Given the description of an element on the screen output the (x, y) to click on. 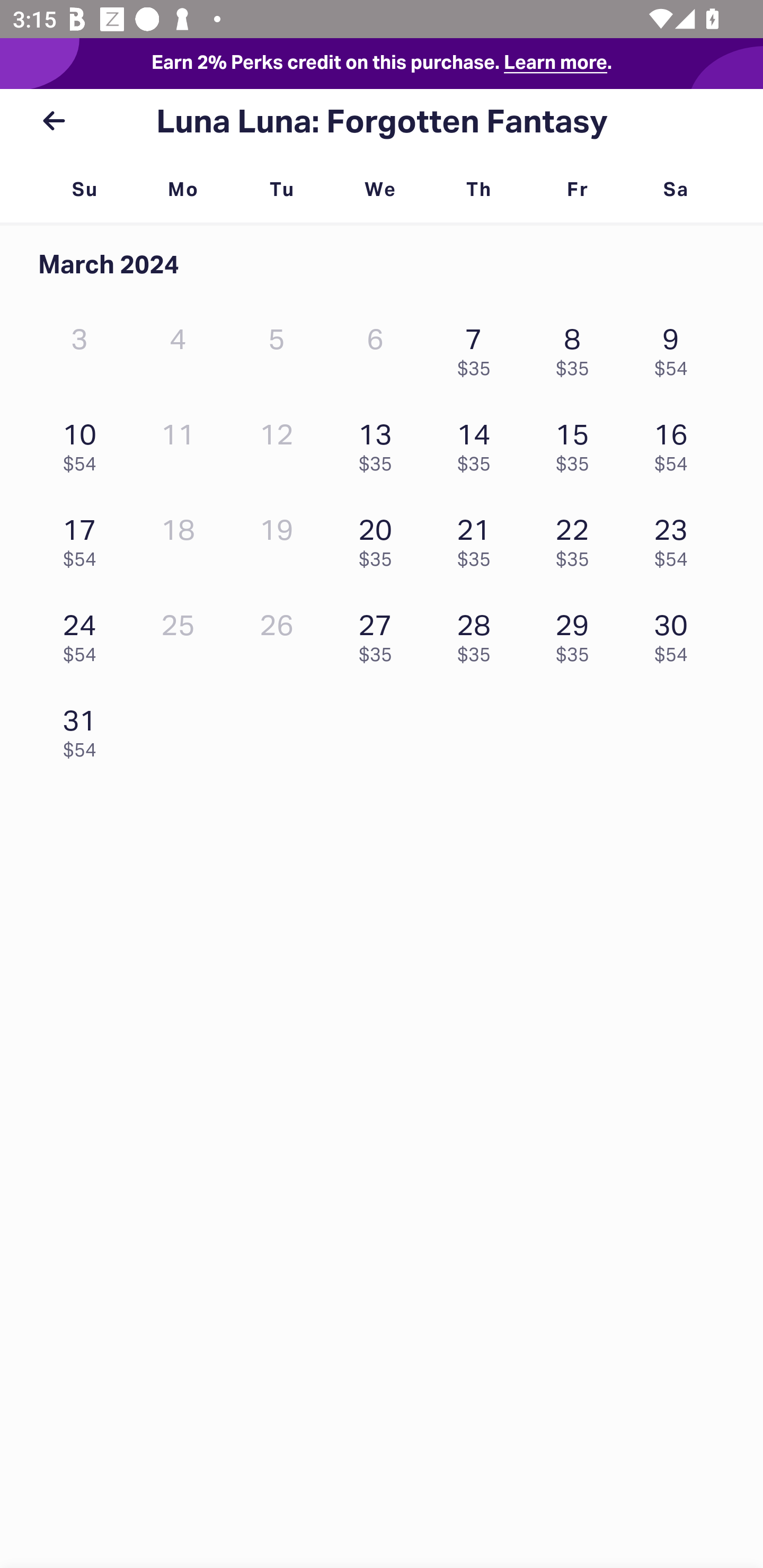
Earn 2% Perks credit on this purchase. Learn more. (381, 63)
back button (53, 120)
7 $35 (478, 347)
8 $35 (577, 347)
9 $54 (675, 347)
10 $54 (84, 442)
13 $35 (379, 442)
14 $35 (478, 442)
15 $35 (577, 442)
16 $54 (675, 442)
17 $54 (84, 538)
20 $35 (379, 538)
21 $35 (478, 538)
22 $35 (577, 538)
23 $54 (675, 538)
24 $54 (84, 633)
27 $35 (379, 633)
28 $35 (478, 633)
29 $35 (577, 633)
30 $54 (675, 633)
31 $54 (84, 728)
